Given the description of an element on the screen output the (x, y) to click on. 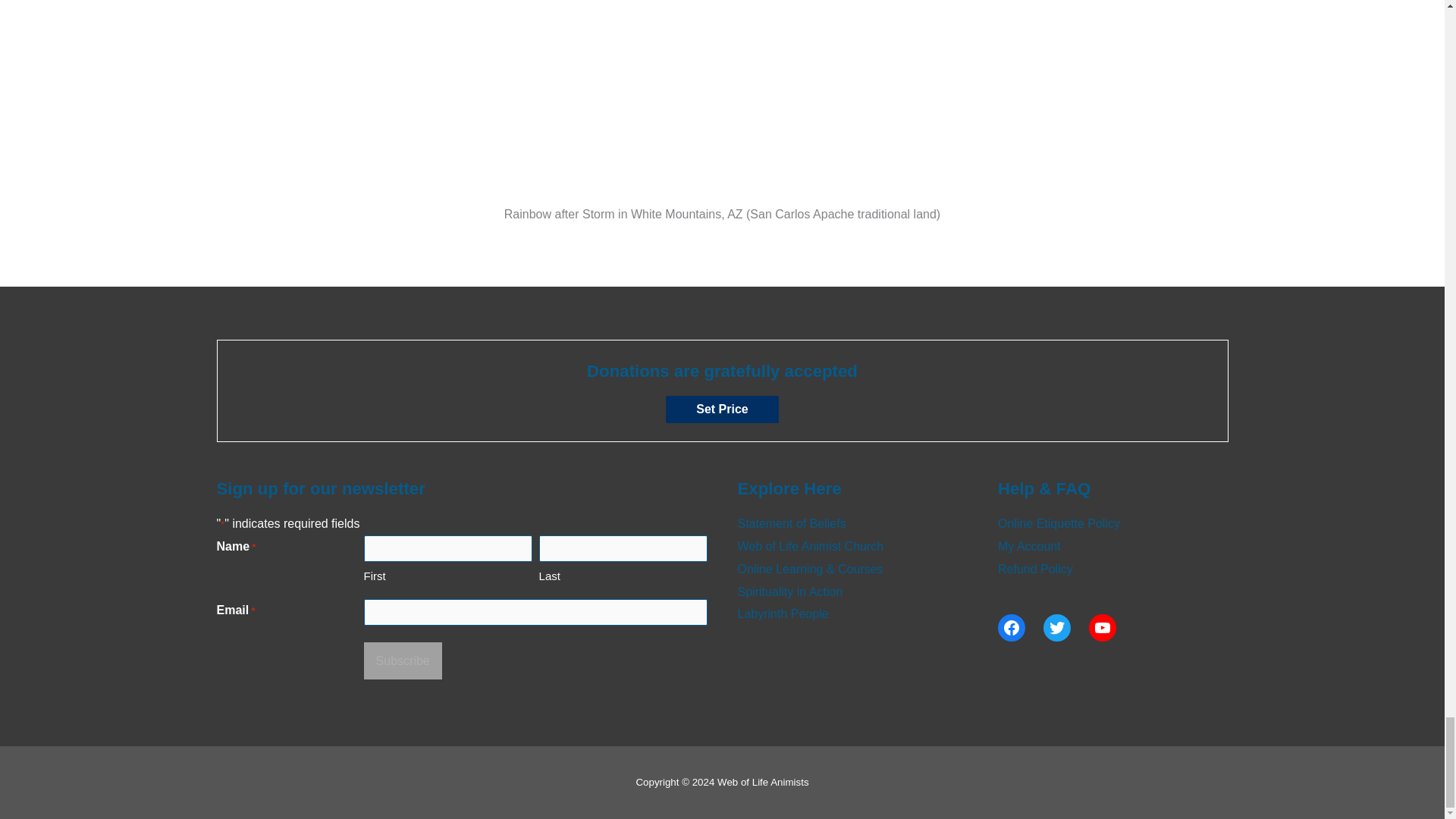
Subscribe (403, 660)
